Given the description of an element on the screen output the (x, y) to click on. 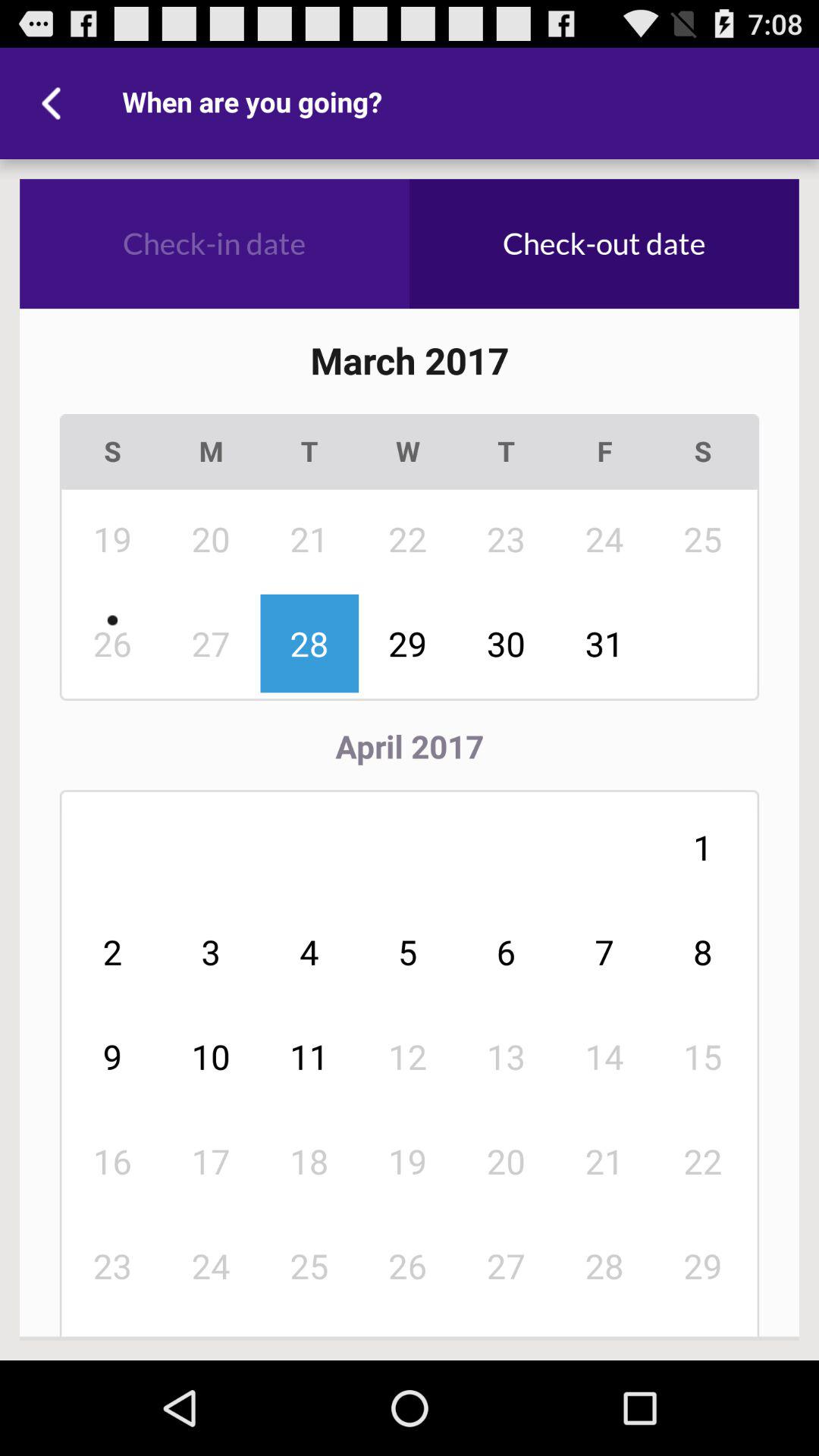
open icon below 3 (309, 1056)
